Given the description of an element on the screen output the (x, y) to click on. 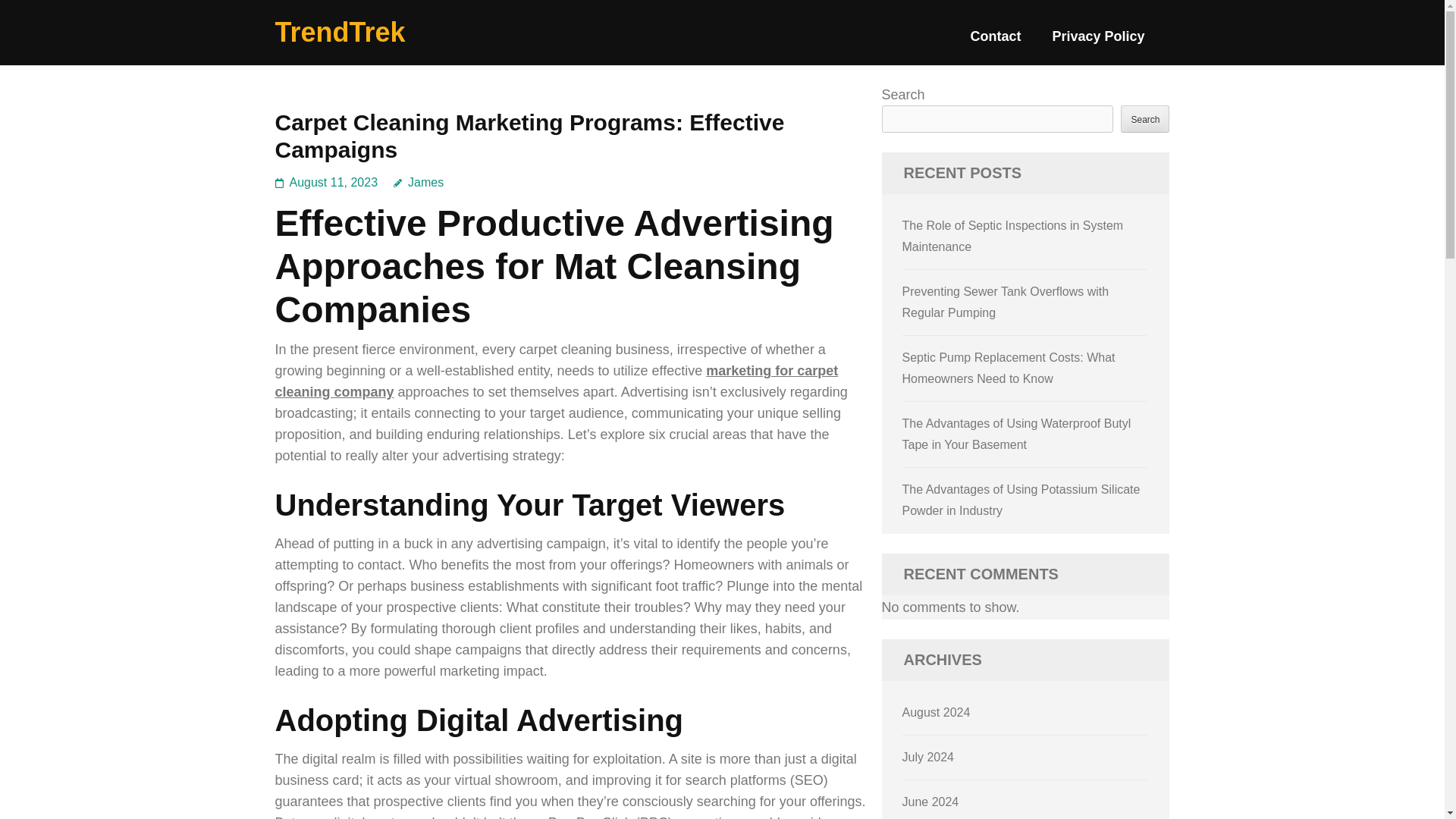
August 11, 2023 (333, 182)
The Role of Septic Inspections in System Maintenance (1013, 236)
Search (1145, 118)
TrendTrek (339, 31)
Contact (994, 42)
August 2024 (936, 712)
James (418, 182)
July 2024 (928, 757)
June 2024 (930, 801)
